Given the description of an element on the screen output the (x, y) to click on. 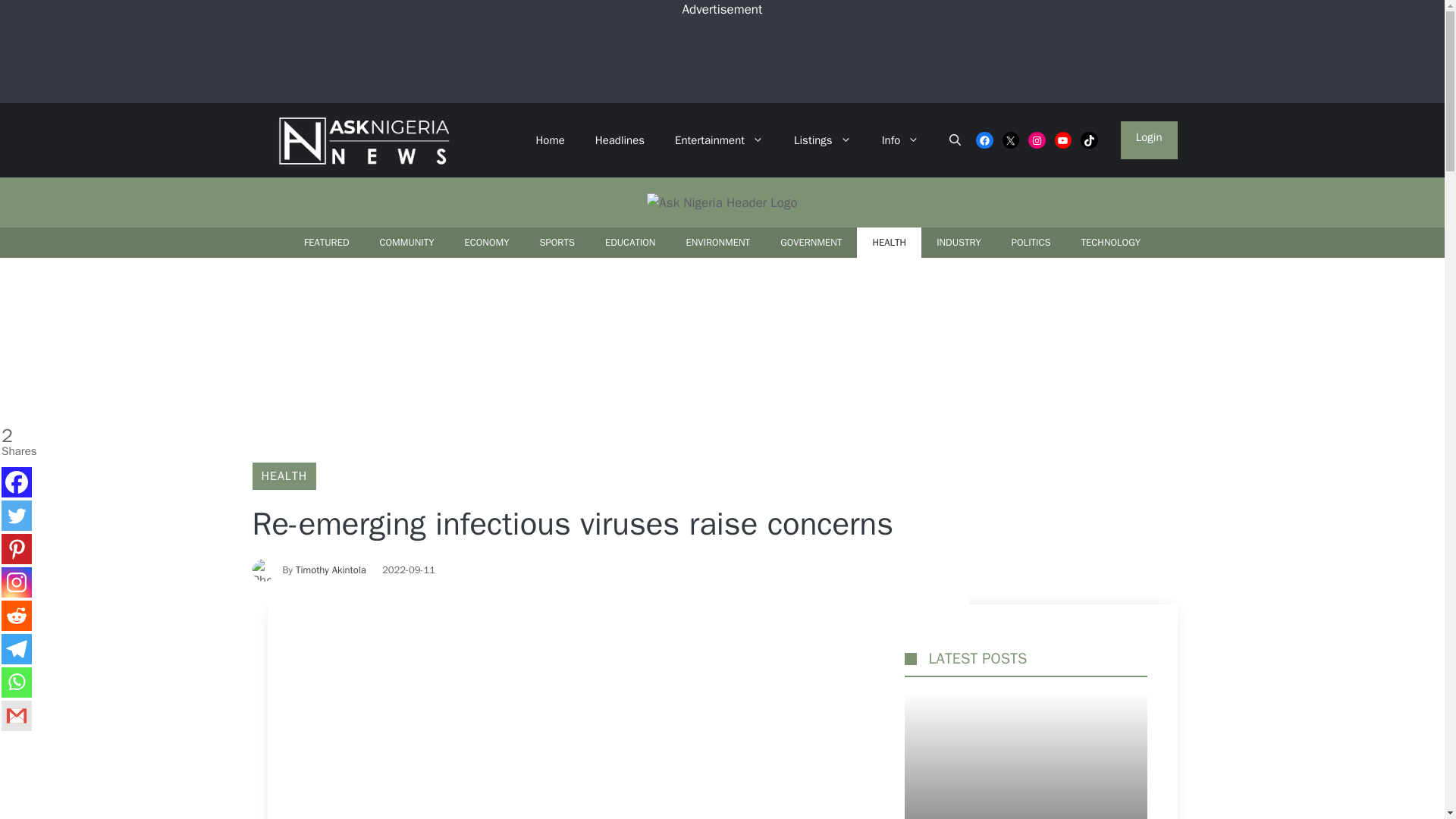
TikTok (1088, 140)
Pinterest (16, 548)
Home (549, 139)
COMMUNITY (406, 242)
ask-nigeria-header-image (721, 202)
EDUCATION (630, 242)
GOVERNMENT (811, 242)
ENVIRONMENT (717, 242)
FEATURED (326, 242)
Ask Nigeria (360, 140)
ECONOMY (486, 242)
SPORTS (556, 242)
Login (1149, 139)
INDUSTRY (958, 242)
Total Shares (16, 441)
